Given the description of an element on the screen output the (x, y) to click on. 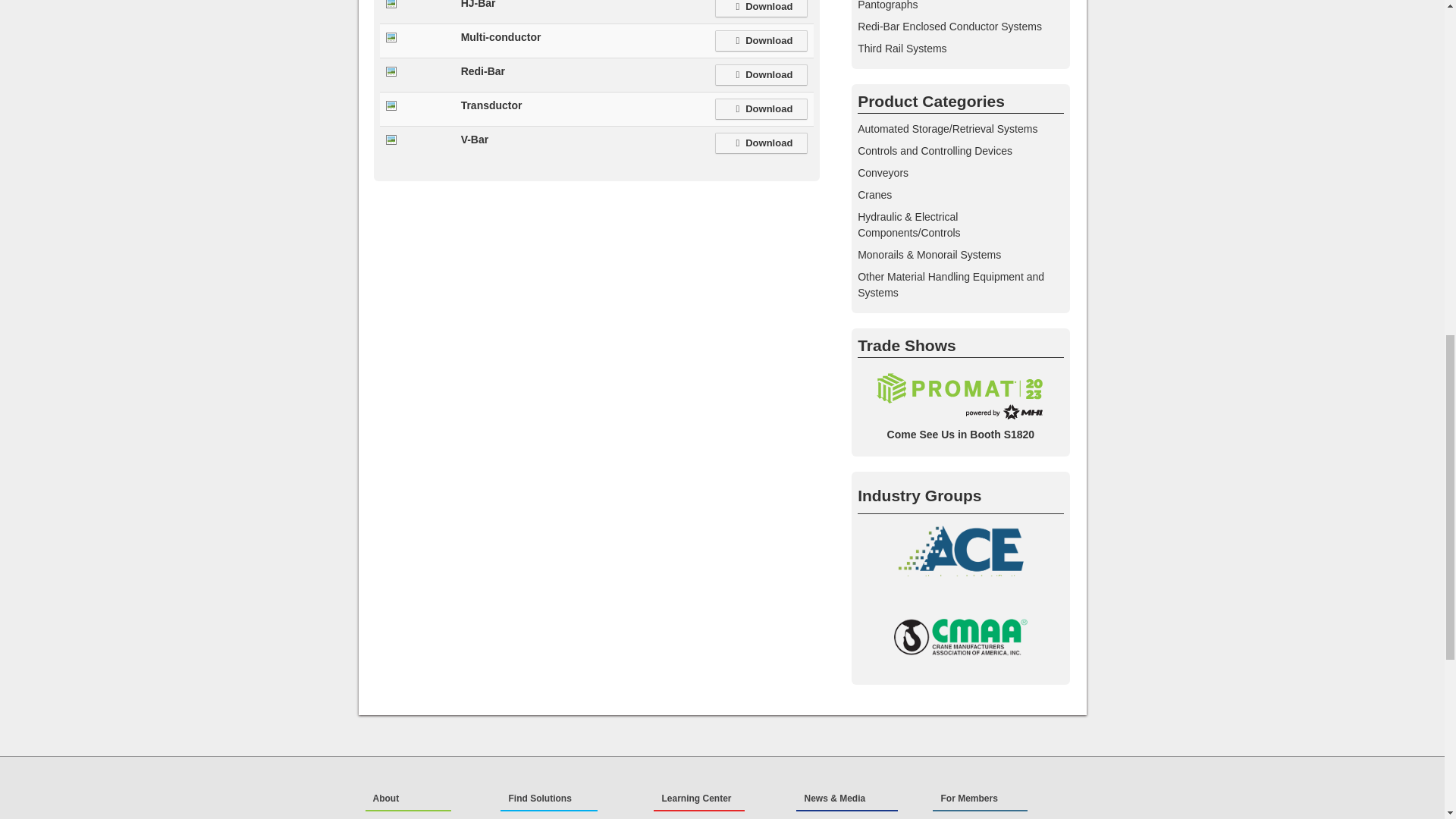
Download (761, 108)
Download (761, 8)
About (408, 799)
Download (761, 40)
Join MHI (424, 817)
Download (761, 74)
Download (761, 142)
